Given the description of an element on the screen output the (x, y) to click on. 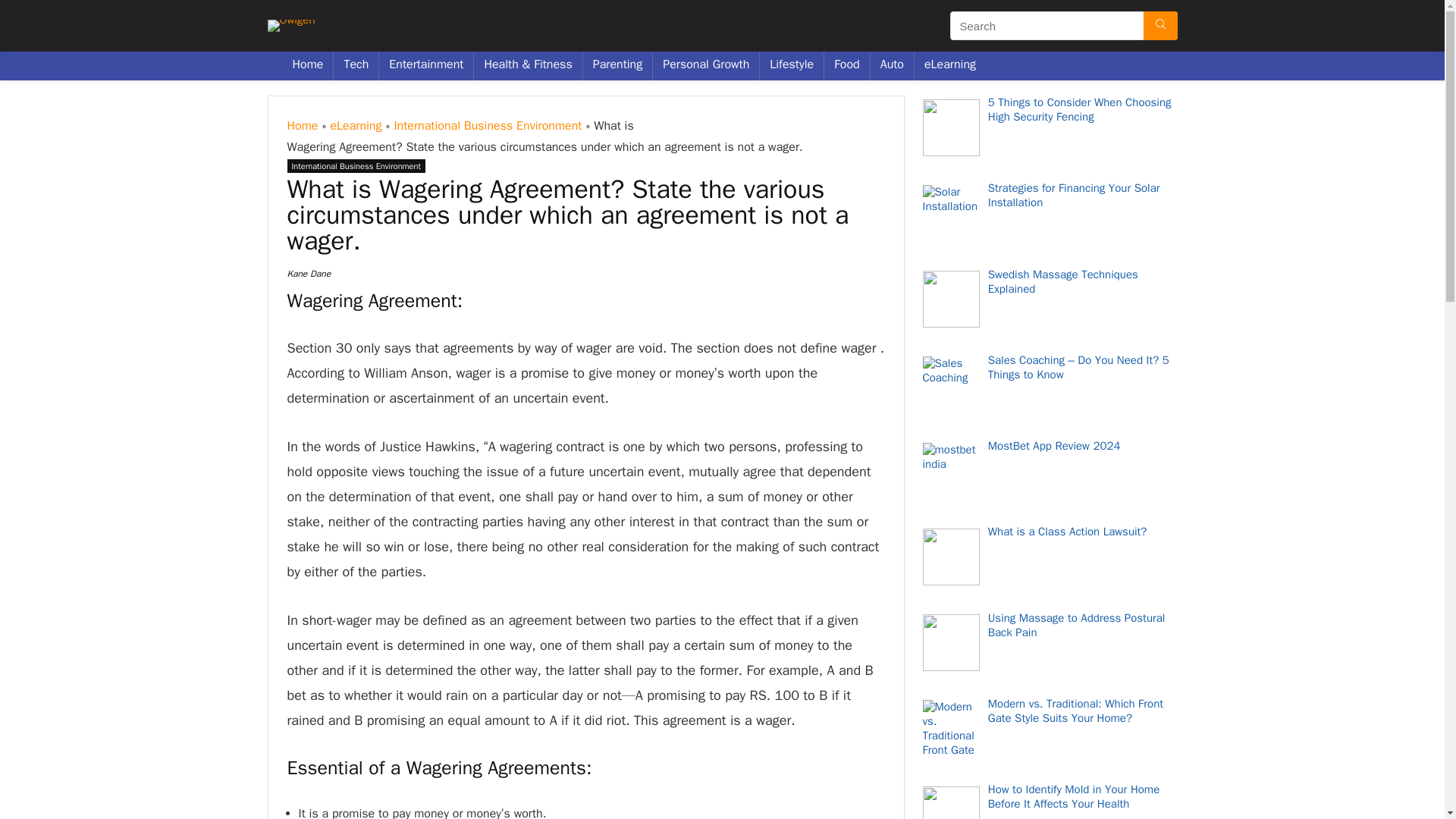
Lifestyle (792, 65)
Food (846, 65)
View all posts in International Business Environment (355, 165)
International Business Environment (486, 125)
What is a Class Action Lawsuit? (1067, 531)
eLearning (355, 125)
Personal Growth (705, 65)
Auto (892, 65)
5 Things to Consider When Choosing High Security Fencing (1080, 109)
eLearning (949, 65)
Strategies for Financing Your Solar Installation (1074, 194)
MostBet App Review 2024 (1054, 445)
Home (307, 65)
Tech (355, 65)
